Given the description of an element on the screen output the (x, y) to click on. 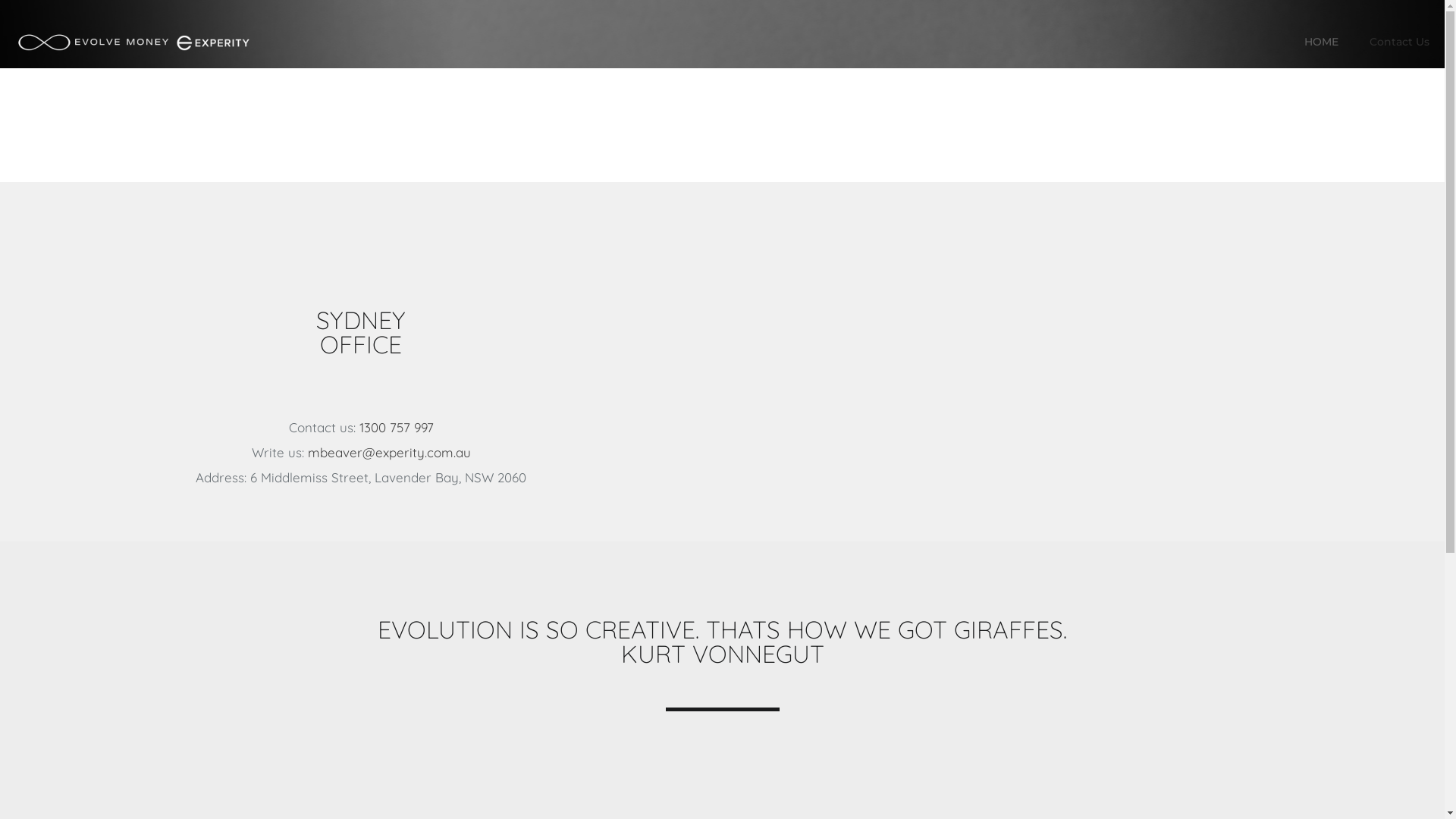
Contact Us Element type: text (1399, 41)
HOME Element type: text (1321, 41)
mbeaver@experity.com.au Element type: text (388, 452)
1300 757 997 Element type: text (396, 427)
